Given the description of an element on the screen output the (x, y) to click on. 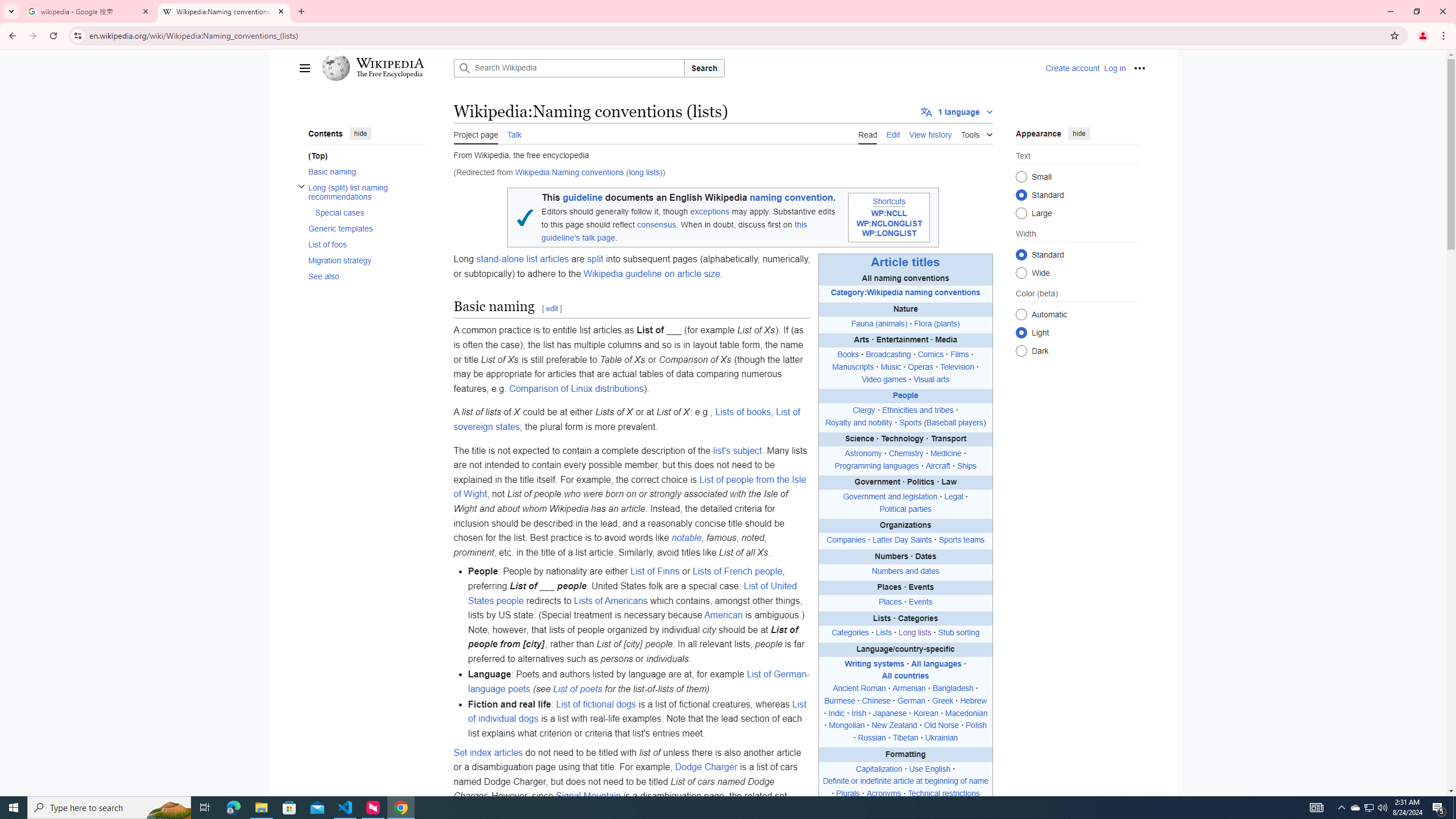
Wide (1020, 272)
Manuscripts (852, 366)
List of foos (368, 243)
Indic (836, 712)
this guideline's talk page (674, 231)
View history (930, 133)
Migration strategy (368, 260)
Dark (1020, 350)
Hebrew (973, 700)
Films (959, 354)
naming convention (790, 197)
Flora (plants) (936, 323)
Chinese (876, 700)
Polish (976, 725)
